Given the description of an element on the screen output the (x, y) to click on. 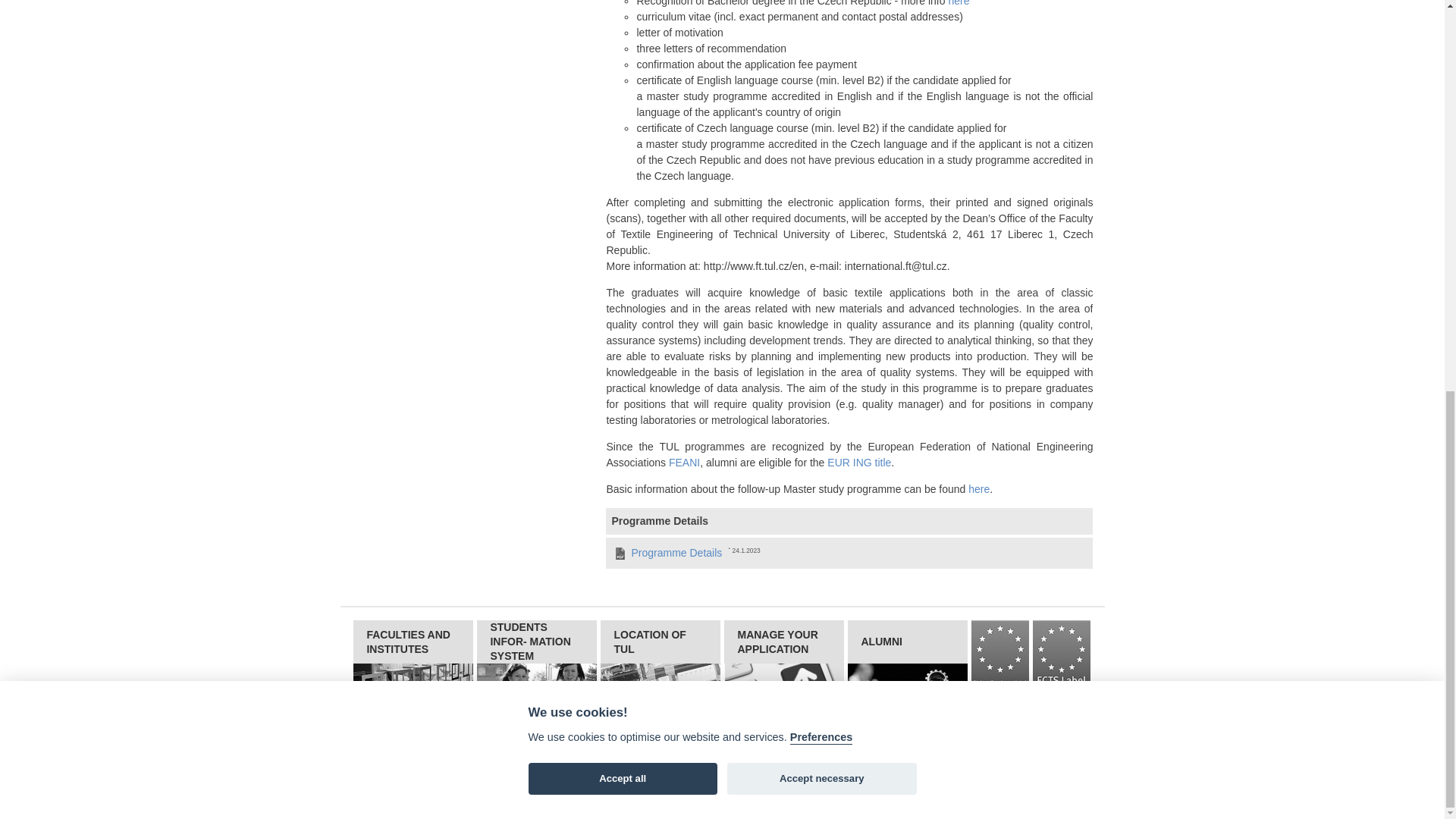
Programme Details (676, 552)
Manage Your Application (783, 684)
LOCATION OF TUL (659, 663)
Students Information System (536, 684)
EUR ING title (859, 462)
FACULTIES AND INSTITUTES (413, 663)
FEANI (684, 462)
Faculties and Institutes (413, 684)
Location of TUL (659, 684)
MANAGE YOUR APPLICATION (783, 663)
here (979, 489)
here (958, 3)
Alumni (907, 684)
ALUMNI (907, 663)
STUDENTS INFOR- MATION SYSTEM (536, 663)
